Given the description of an element on the screen output the (x, y) to click on. 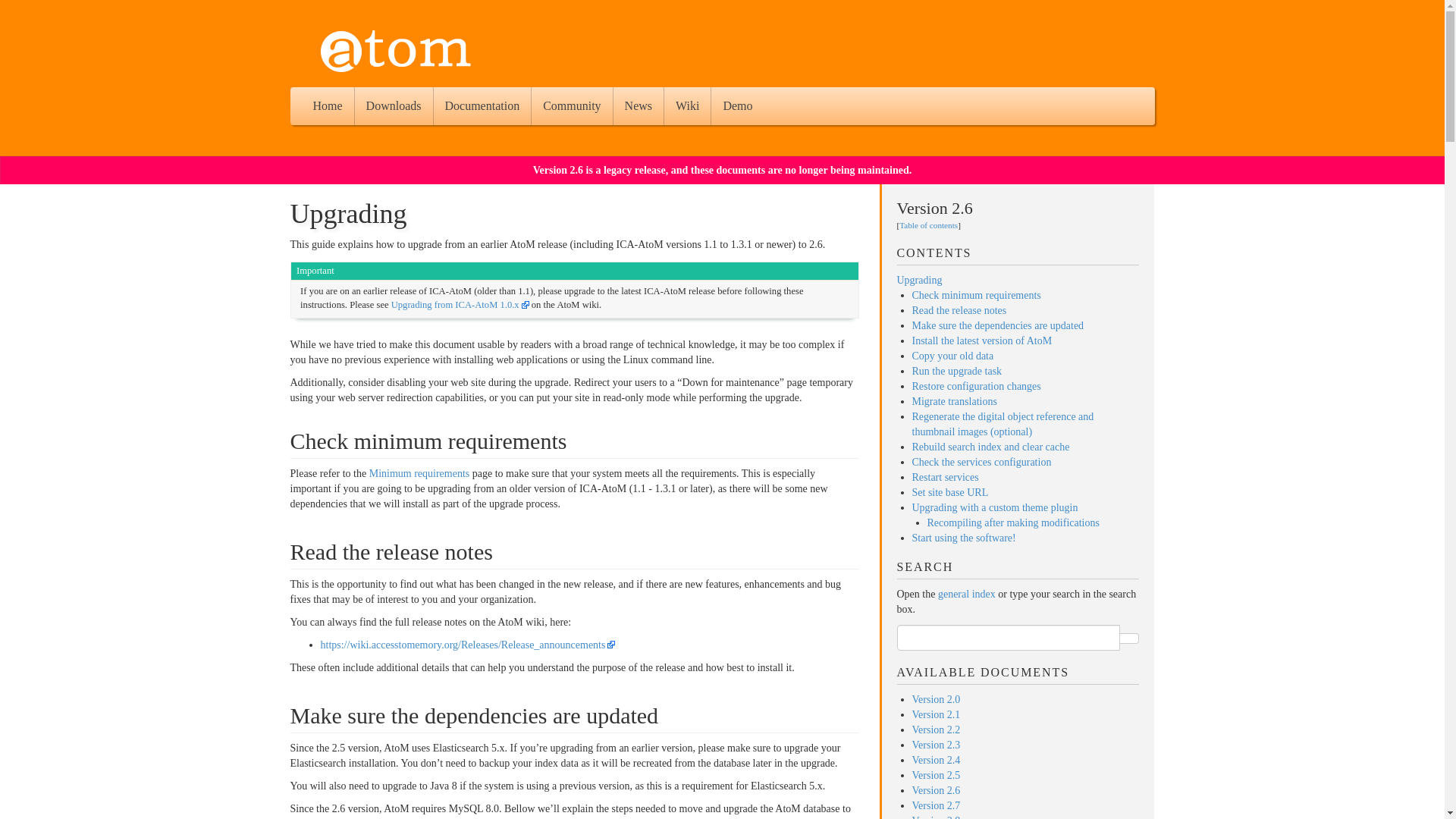
News (637, 105)
Home (327, 105)
Community (571, 105)
Downloads (393, 105)
Upgrading from ICA-AtoM 1.0.x (460, 304)
Documentation (482, 105)
Minimum requirements (419, 473)
Wiki (686, 105)
Demo (736, 105)
